Given the description of an element on the screen output the (x, y) to click on. 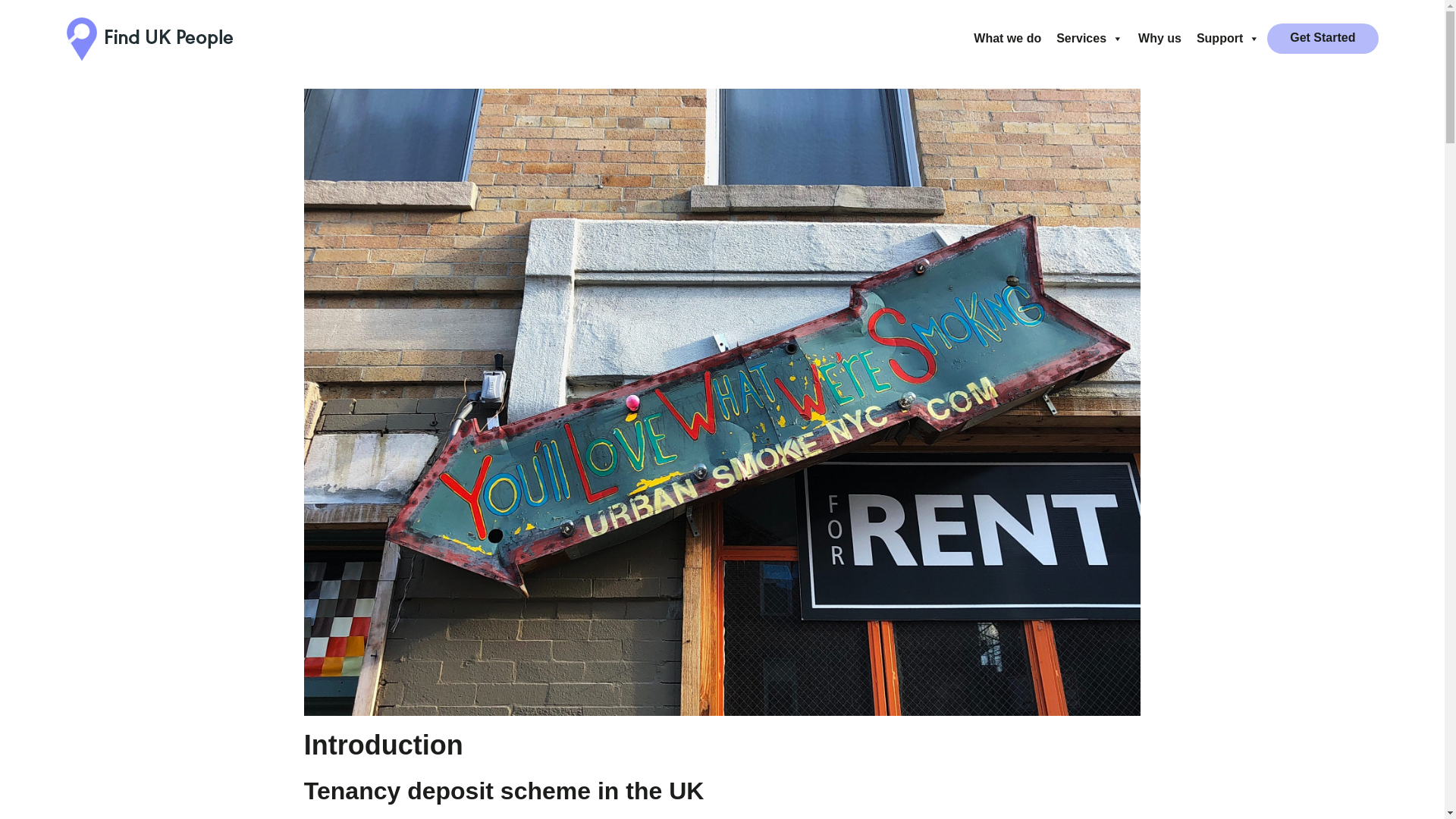
Services (1089, 38)
Support (1227, 38)
Why us (1160, 38)
What we do (1007, 38)
